Given the description of an element on the screen output the (x, y) to click on. 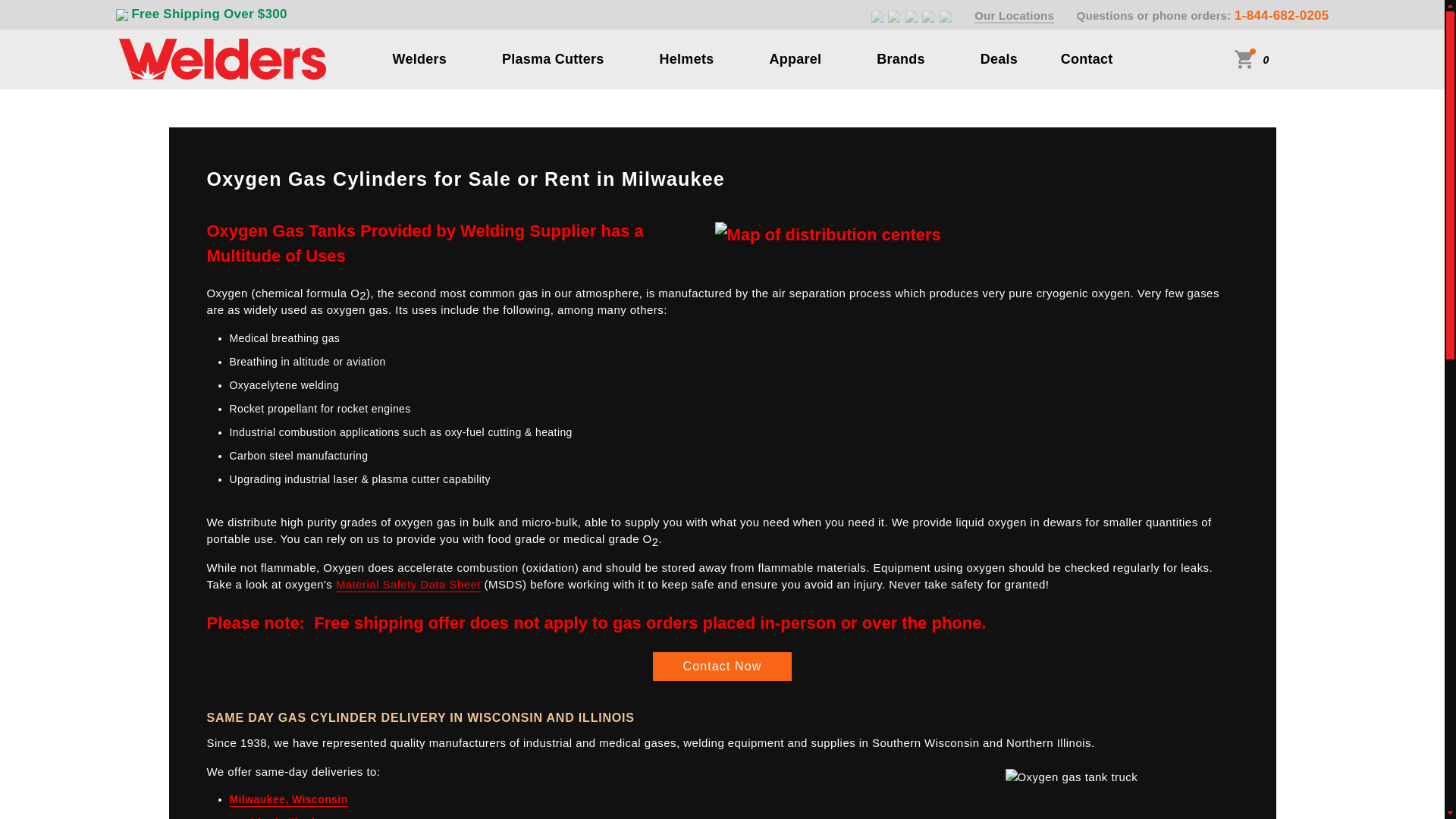
Questions or phone orders: 1-844-682-0205 (1203, 15)
Plasma Cutters (553, 58)
Our Locations (1014, 16)
We Are Welders (221, 57)
The worlds best plasma prices at the lowest prices (553, 58)
Welders (419, 58)
Helmets (686, 58)
